Given the description of an element on the screen output the (x, y) to click on. 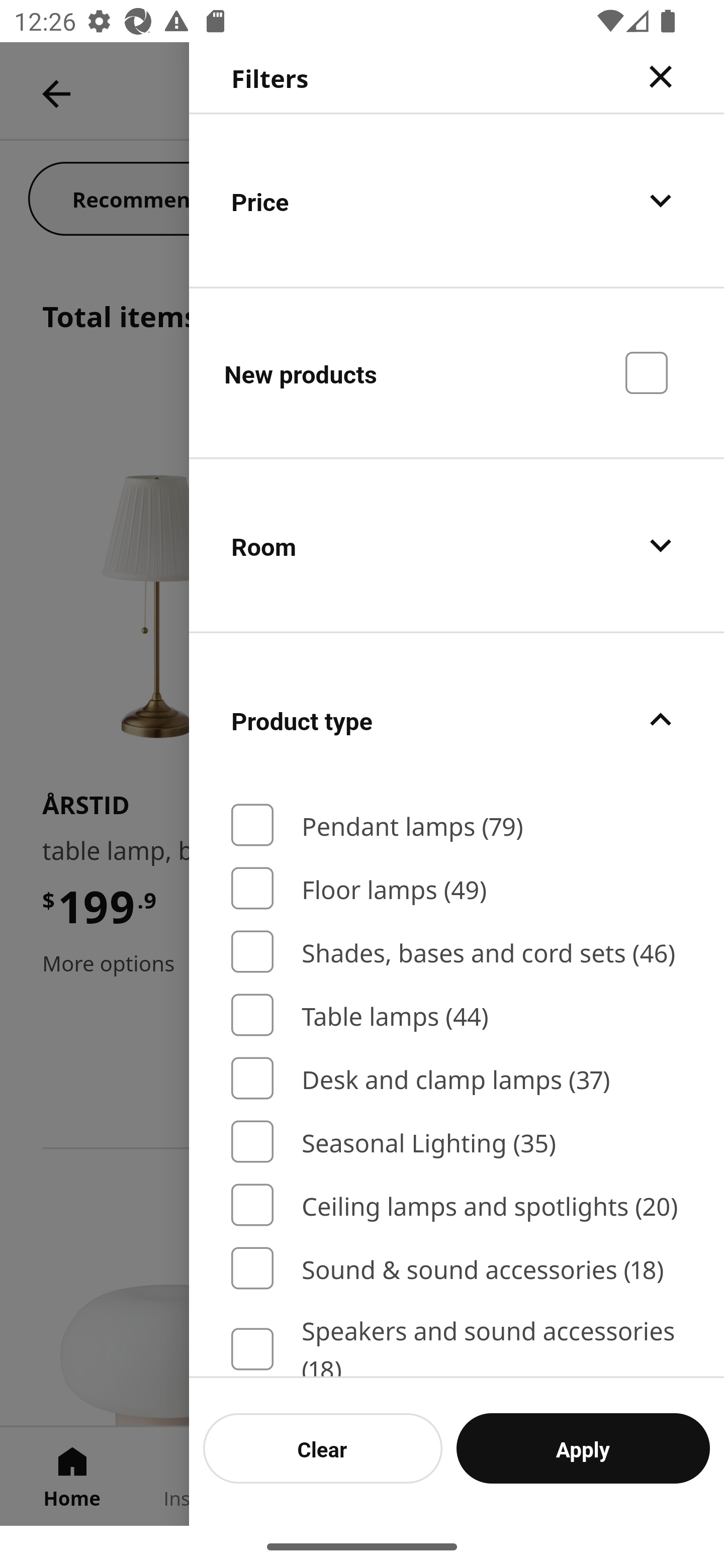
Price (456, 200)
New products (456, 371)
Room (456, 545)
Product type (456, 719)
Pendant lamps (79) (456, 825)
Floor lamps (49) (456, 888)
Shades, bases and cord sets (46) (456, 952)
Table lamps (44) (456, 1015)
Desk and clamp lamps (37) (456, 1077)
Seasonal Lighting (35) (456, 1142)
Ceiling lamps and spotlights (20) (456, 1204)
Sound & sound accessories (18) (456, 1268)
Speakers and sound accessories (18) (456, 1343)
Clear (322, 1447)
Apply (583, 1447)
